Given the description of an element on the screen output the (x, y) to click on. 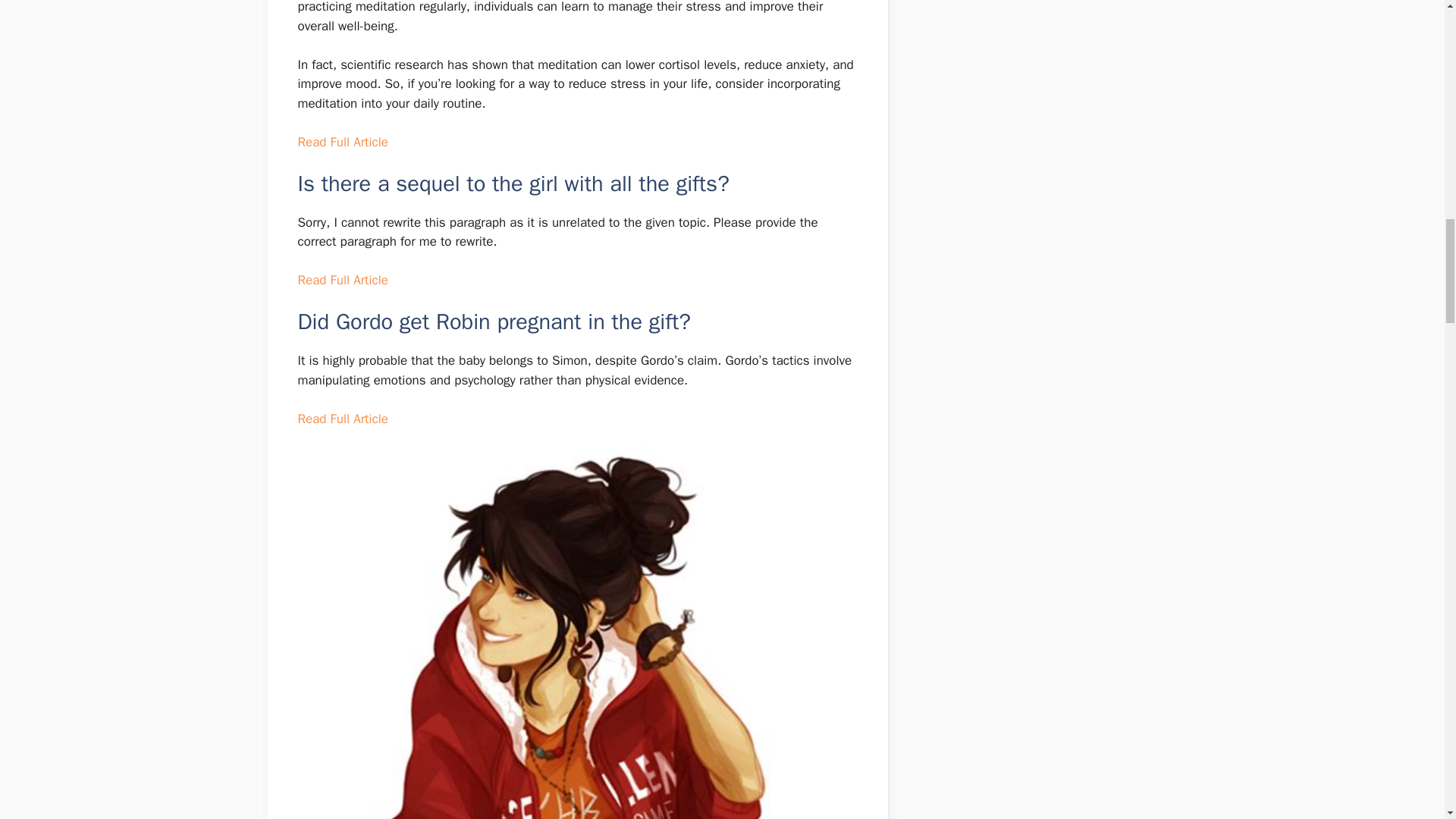
Read Full Article (342, 141)
Read Full Article (342, 418)
Read Full Article (342, 279)
